Given the description of an element on the screen output the (x, y) to click on. 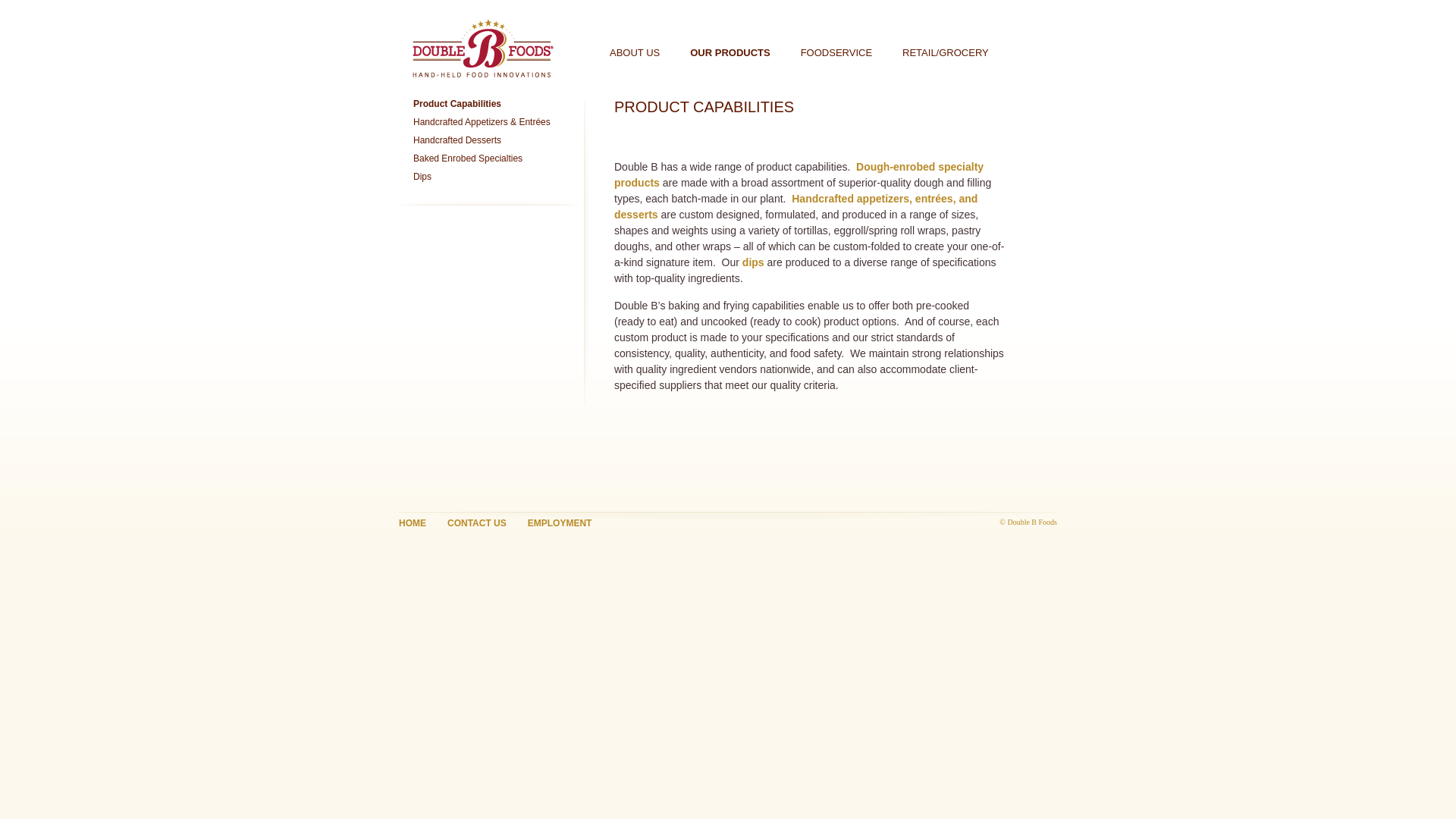
Dough-enrobed specialty products (799, 174)
Dips (421, 176)
OUR PRODUCTS (729, 52)
EMPLOYMENT (559, 522)
Handcrafted Desserts (456, 140)
ABOUT US (634, 52)
HOME (412, 522)
Baked Enrobed Specialties (467, 158)
FOODSERVICE (836, 52)
dips (753, 262)
